Given the description of an element on the screen output the (x, y) to click on. 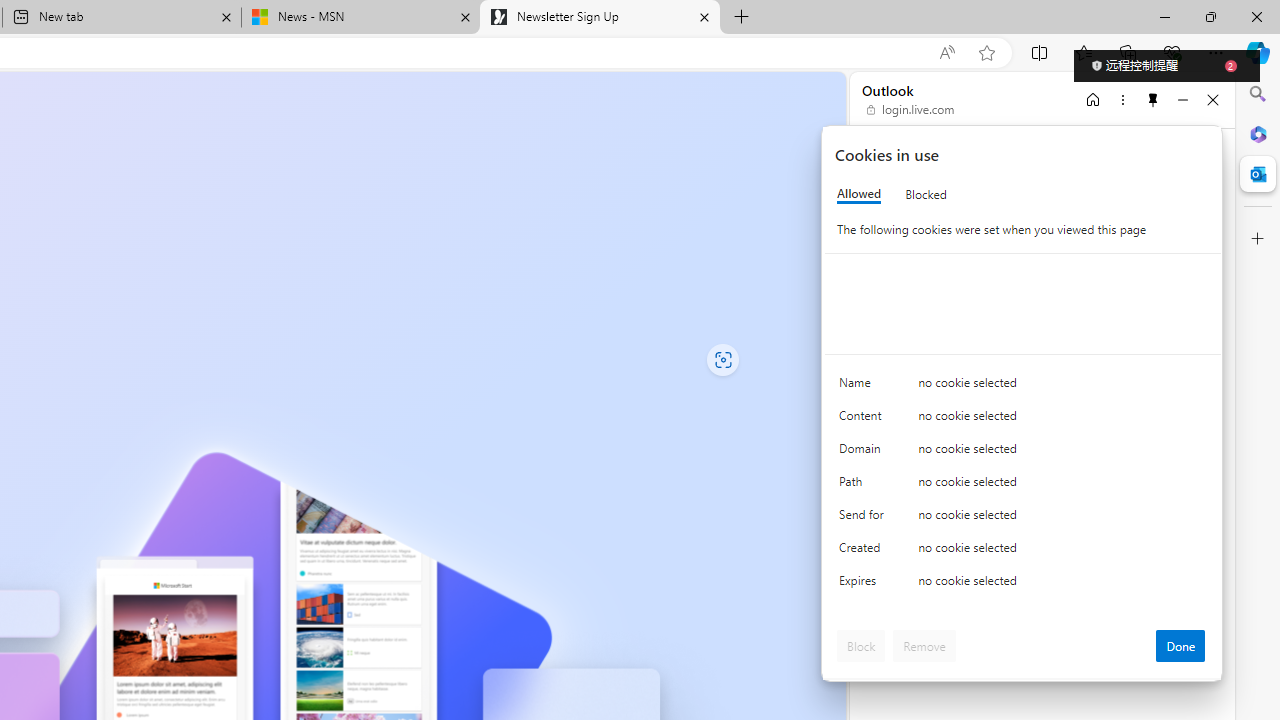
Class: c0153 c0157 (1023, 584)
Send for (864, 518)
Name (864, 387)
Remove (924, 645)
Newsletter Sign Up (600, 17)
Domain (864, 452)
Allowed (859, 193)
